Given the description of an element on the screen output the (x, y) to click on. 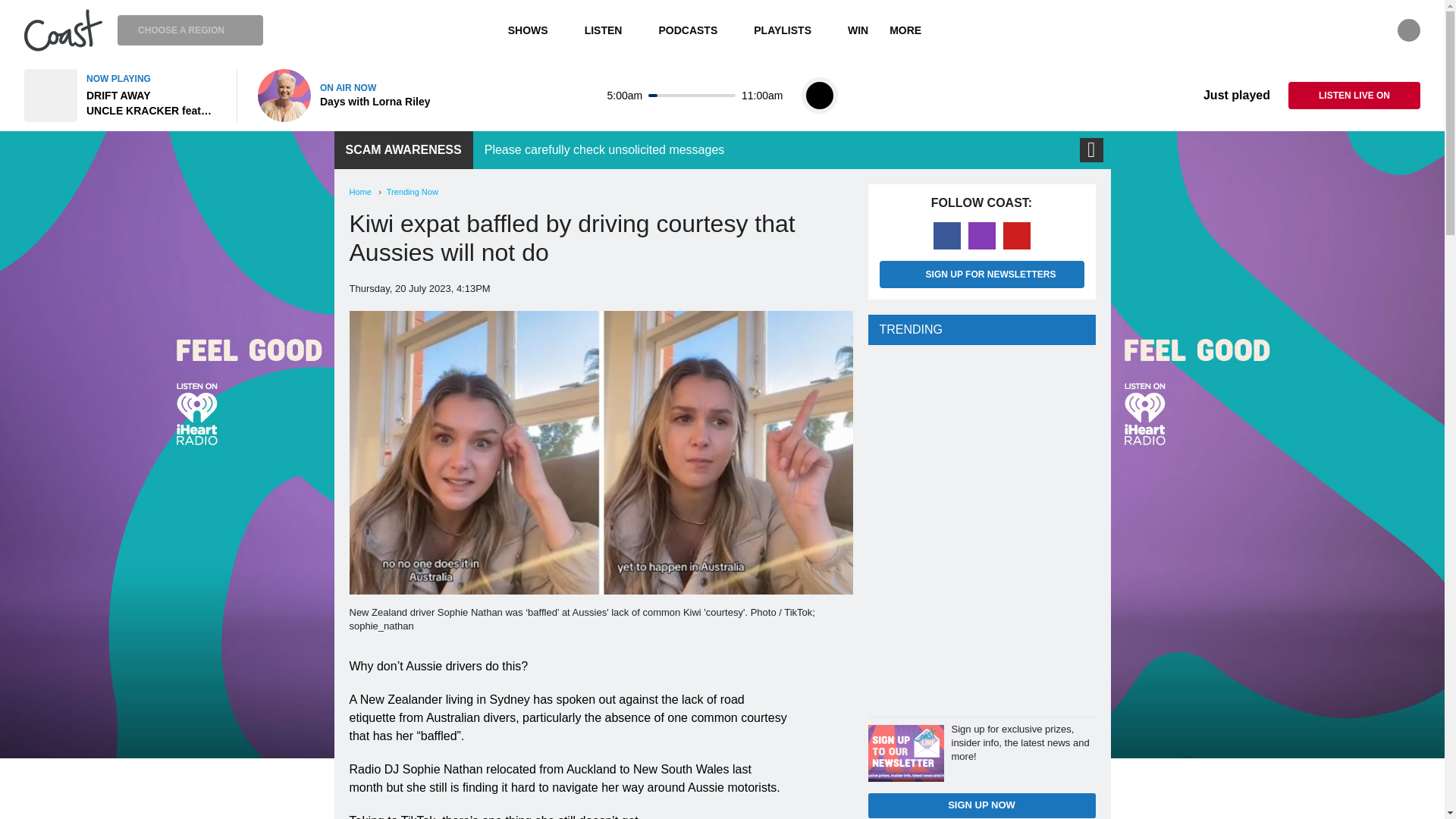
CHOOSE A REGION (190, 30)
Coast (62, 29)
LISTEN (610, 30)
Just played (1225, 95)
Listen to DRIFT AWAY by UNCLE KRACKER feat DOBIE GRAY (121, 95)
SHOWS (535, 30)
